Given the description of an element on the screen output the (x, y) to click on. 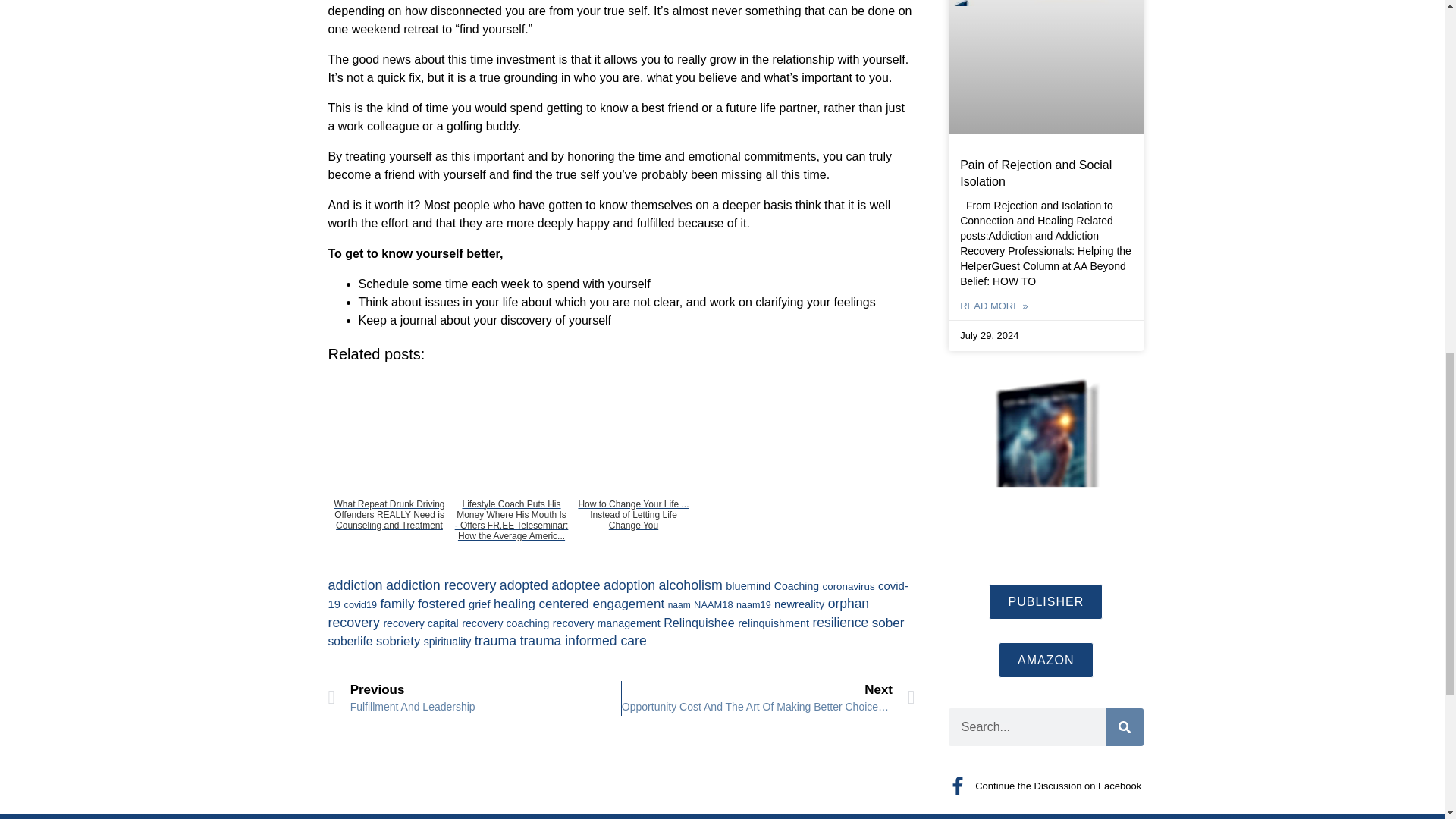
addiction recovery (440, 585)
adopted (523, 585)
adoption (629, 585)
adoptee (575, 585)
Coaching (796, 585)
bluemind (747, 585)
alcoholism (690, 585)
addiction (354, 585)
